Given the description of an element on the screen output the (x, y) to click on. 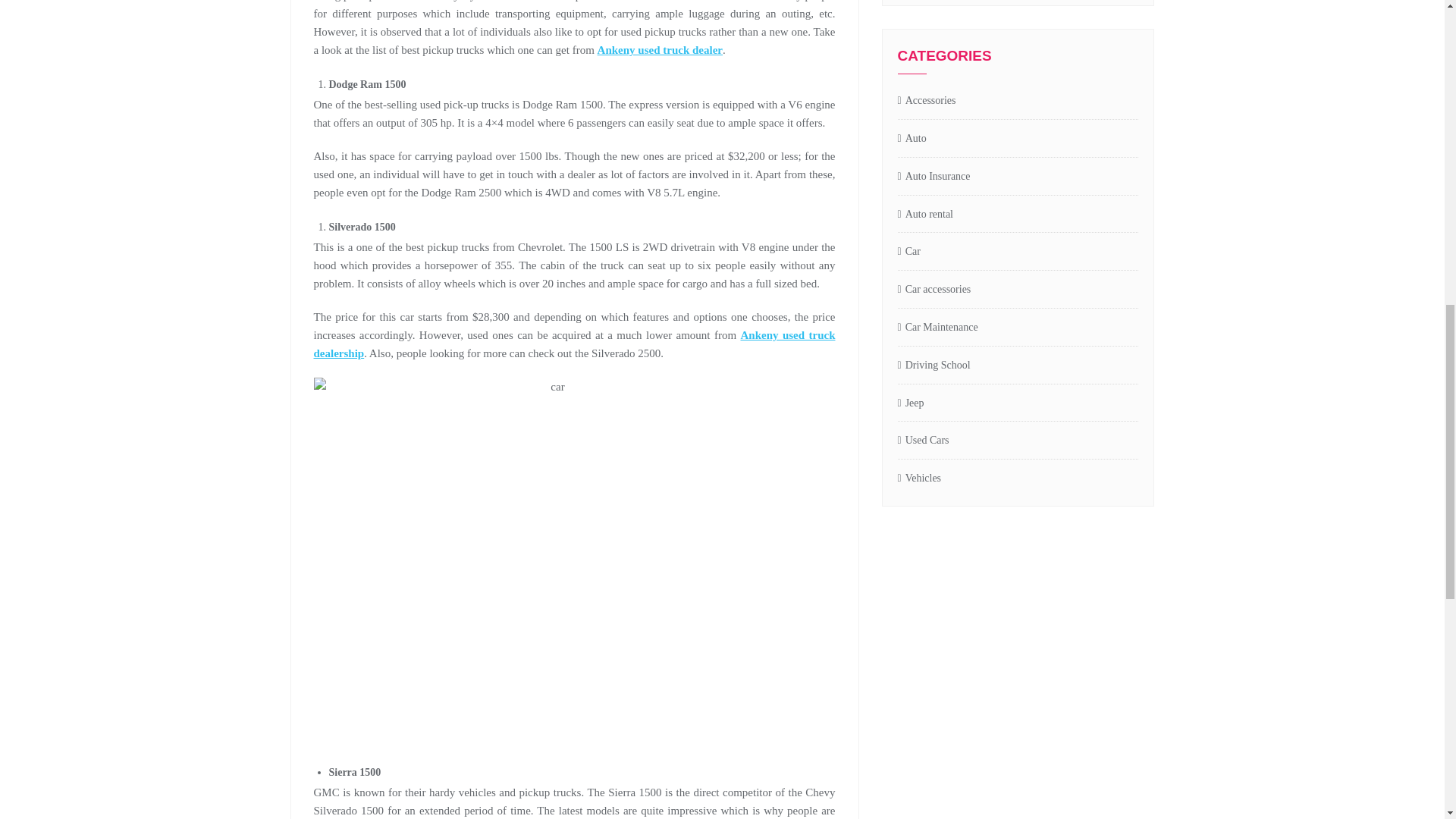
Ankeny used truck dealership (574, 344)
Ankeny used truck dealer (659, 50)
Jeep (911, 403)
Car accessories (934, 290)
Driving School (934, 365)
Car (909, 251)
Car Maintenance (938, 327)
Accessories (927, 101)
Auto (912, 138)
Auto rental (925, 214)
Auto Insurance (934, 177)
Used Cars (923, 440)
Vehicles (920, 478)
